Given the description of an element on the screen output the (x, y) to click on. 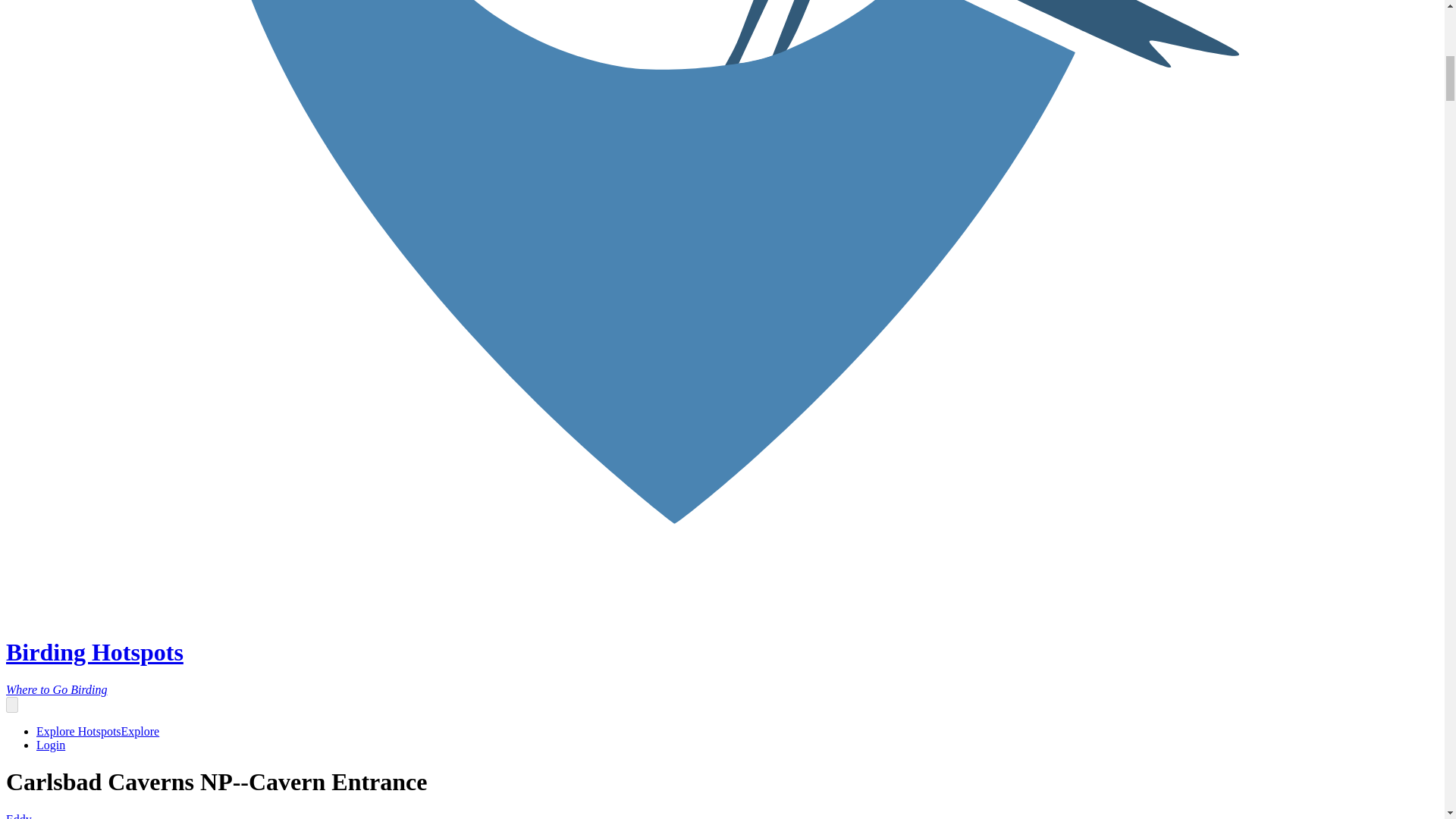
Eddy (18, 816)
Explore HotspotsExplore (97, 730)
Login (50, 744)
